Given the description of an element on the screen output the (x, y) to click on. 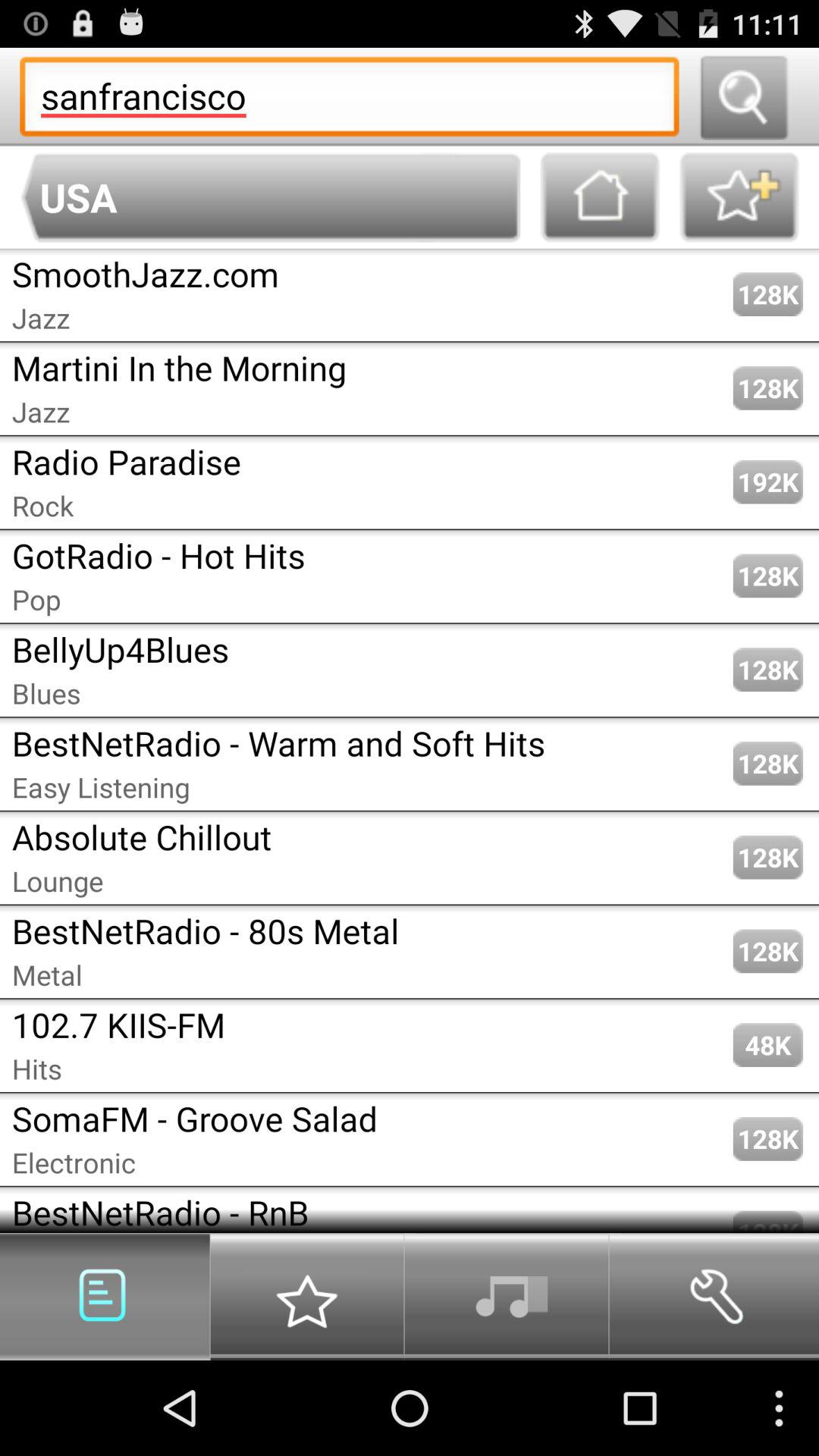
look up or search the terms (743, 96)
